Given the description of an element on the screen output the (x, y) to click on. 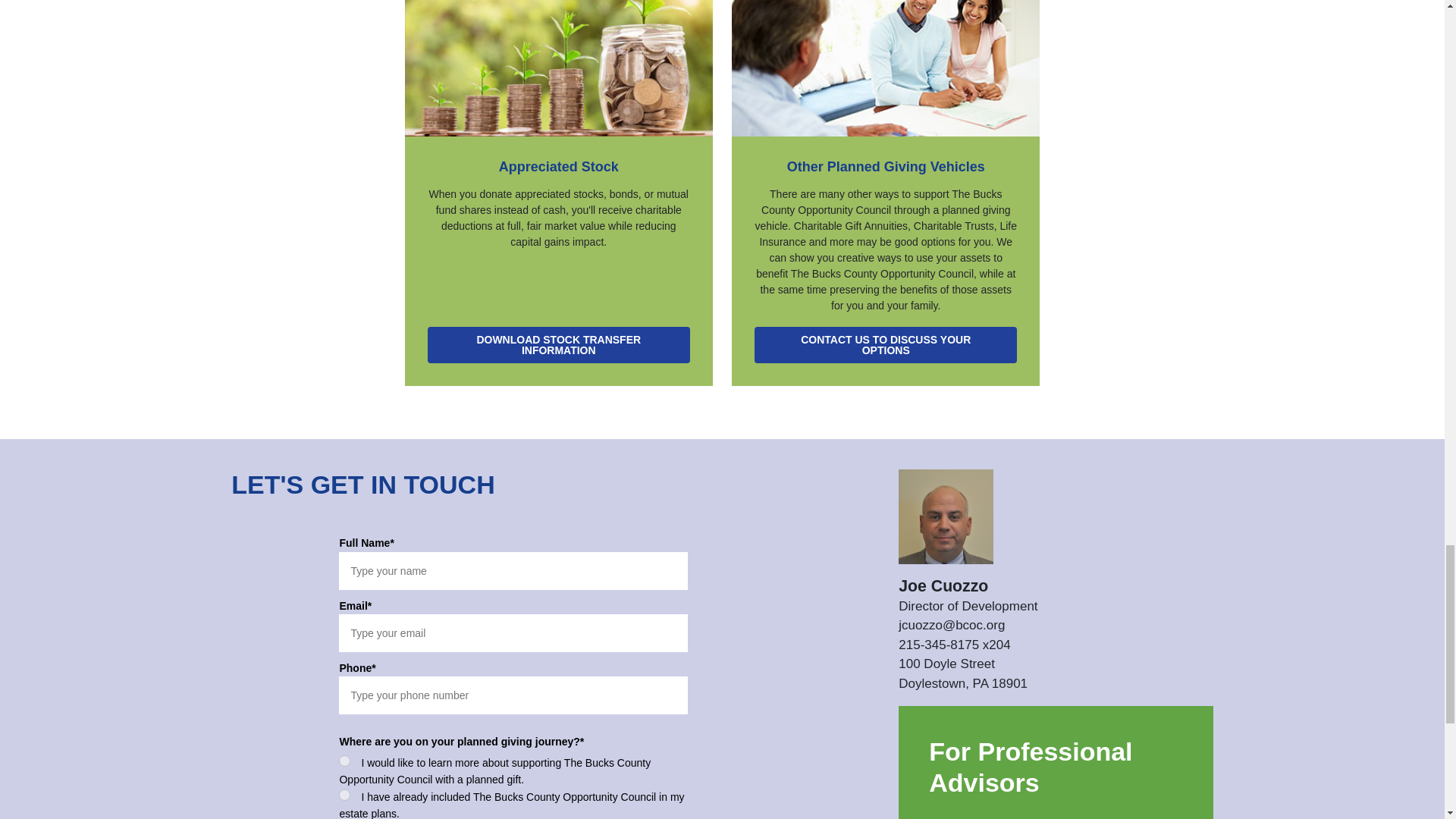
CONTACT US TO DISCUSS YOUR OPTIONS (885, 344)
DOWNLOAD STOCK TRANSFER INFORMATION (559, 344)
